Given the description of an element on the screen output the (x, y) to click on. 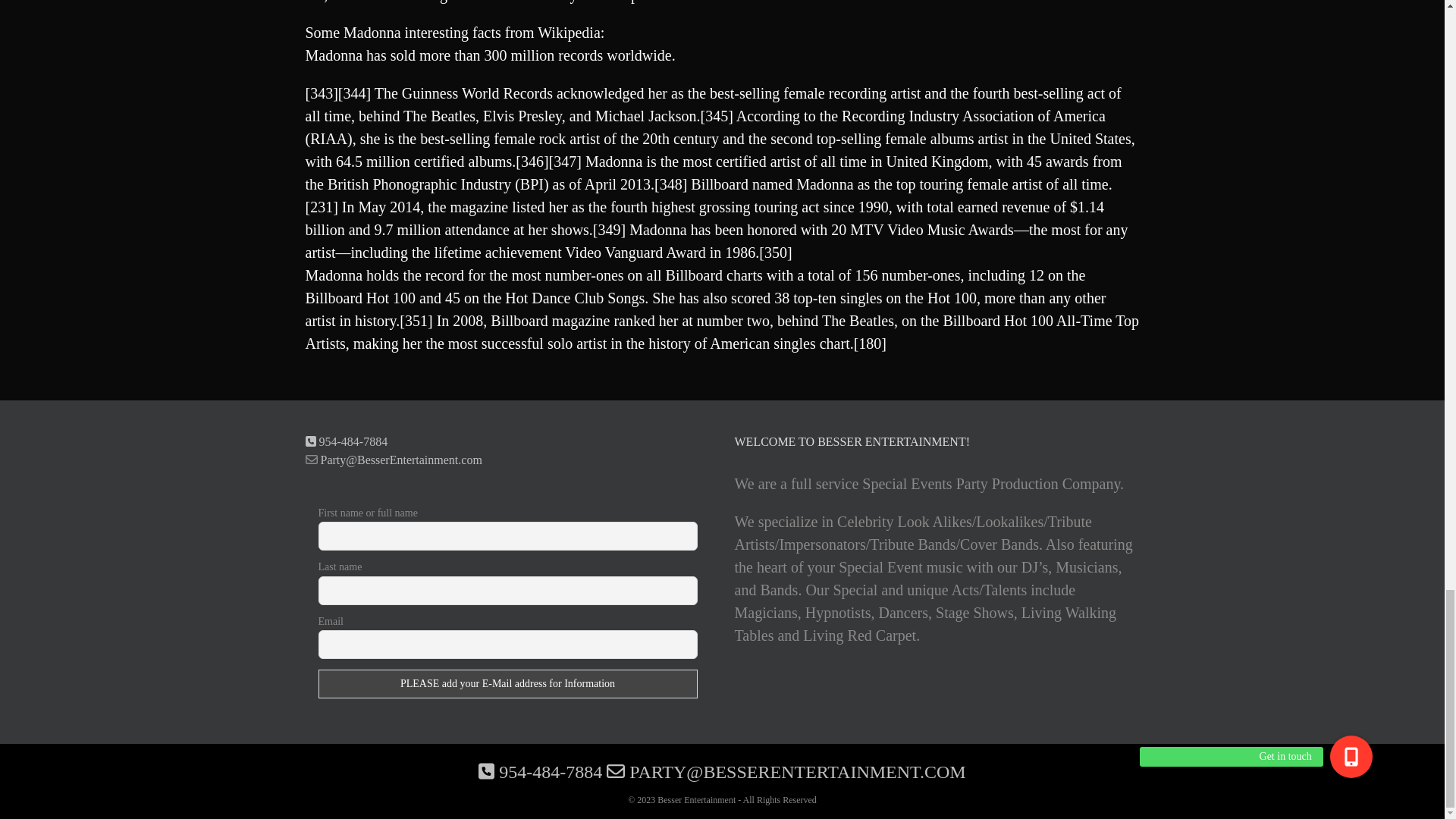
PLEASE add your E-Mail address for Information (507, 683)
